Given the description of an element on the screen output the (x, y) to click on. 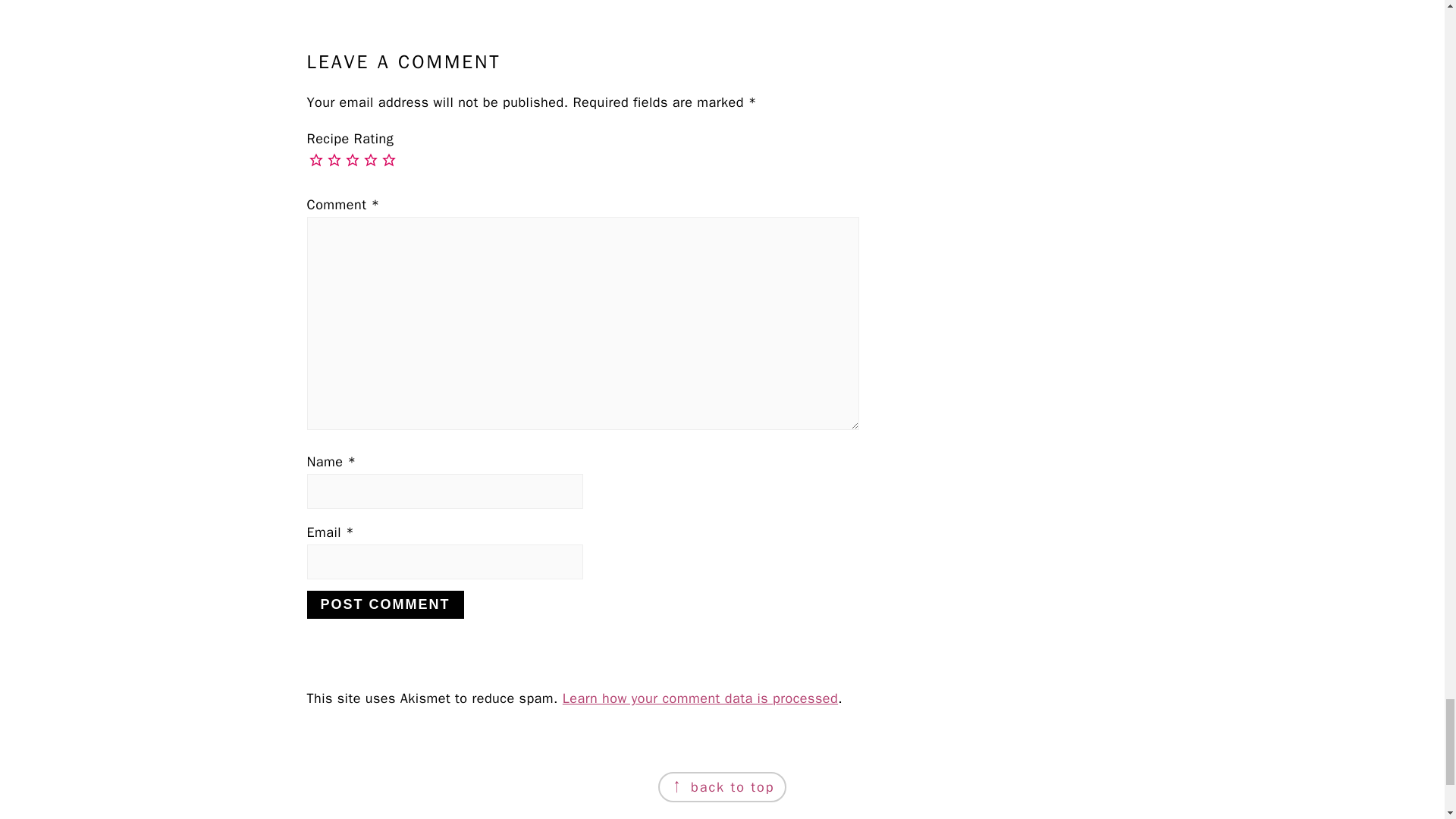
Post Comment (384, 604)
